Given the description of an element on the screen output the (x, y) to click on. 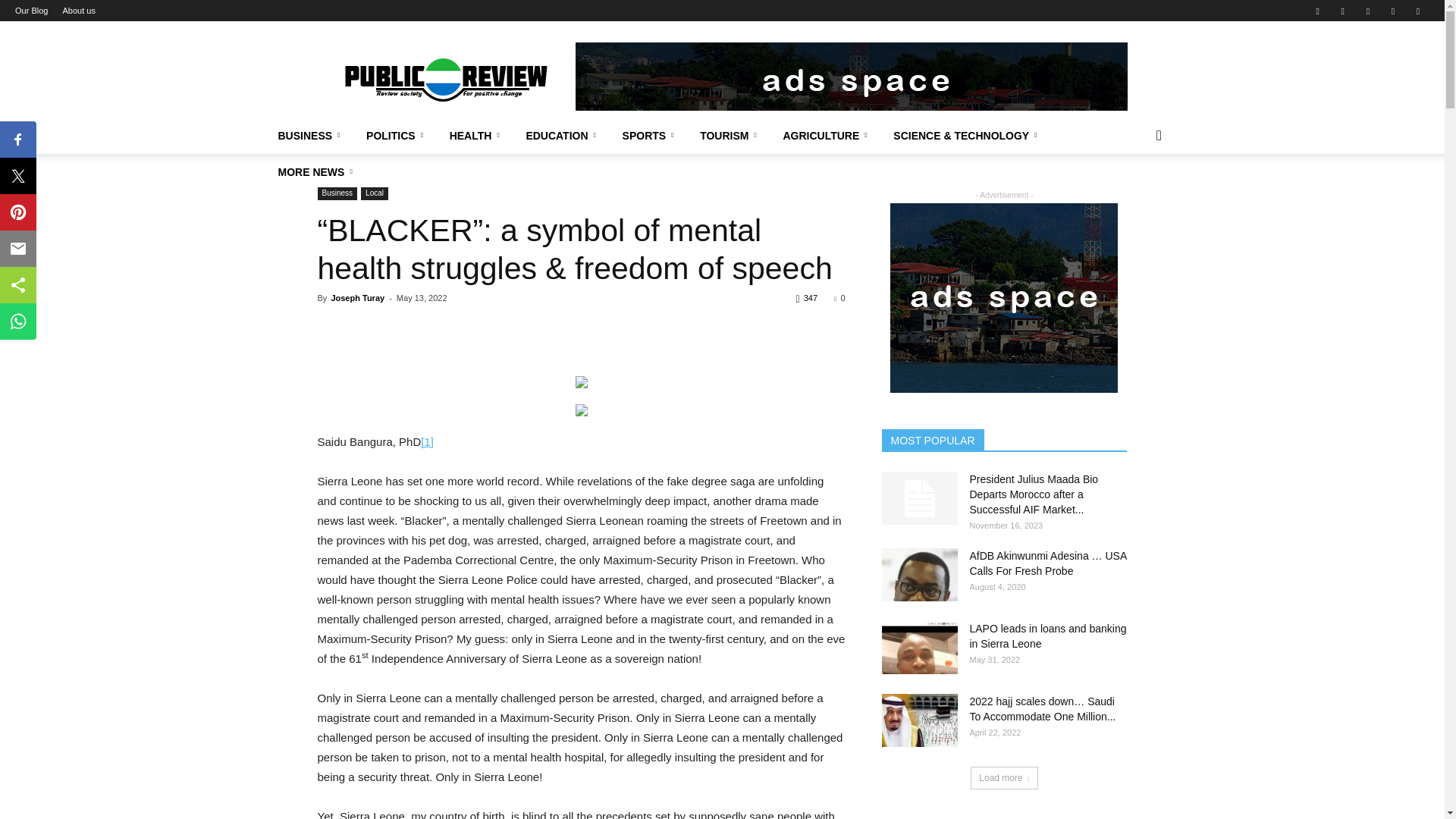
VKontakte (1393, 10)
The Public Review Newspaper (445, 76)
About us (78, 10)
Twitter (1343, 10)
Facebook (1317, 10)
Our Blog (31, 10)
Youtube (1417, 10)
Vimeo (1367, 10)
